Given the description of an element on the screen output the (x, y) to click on. 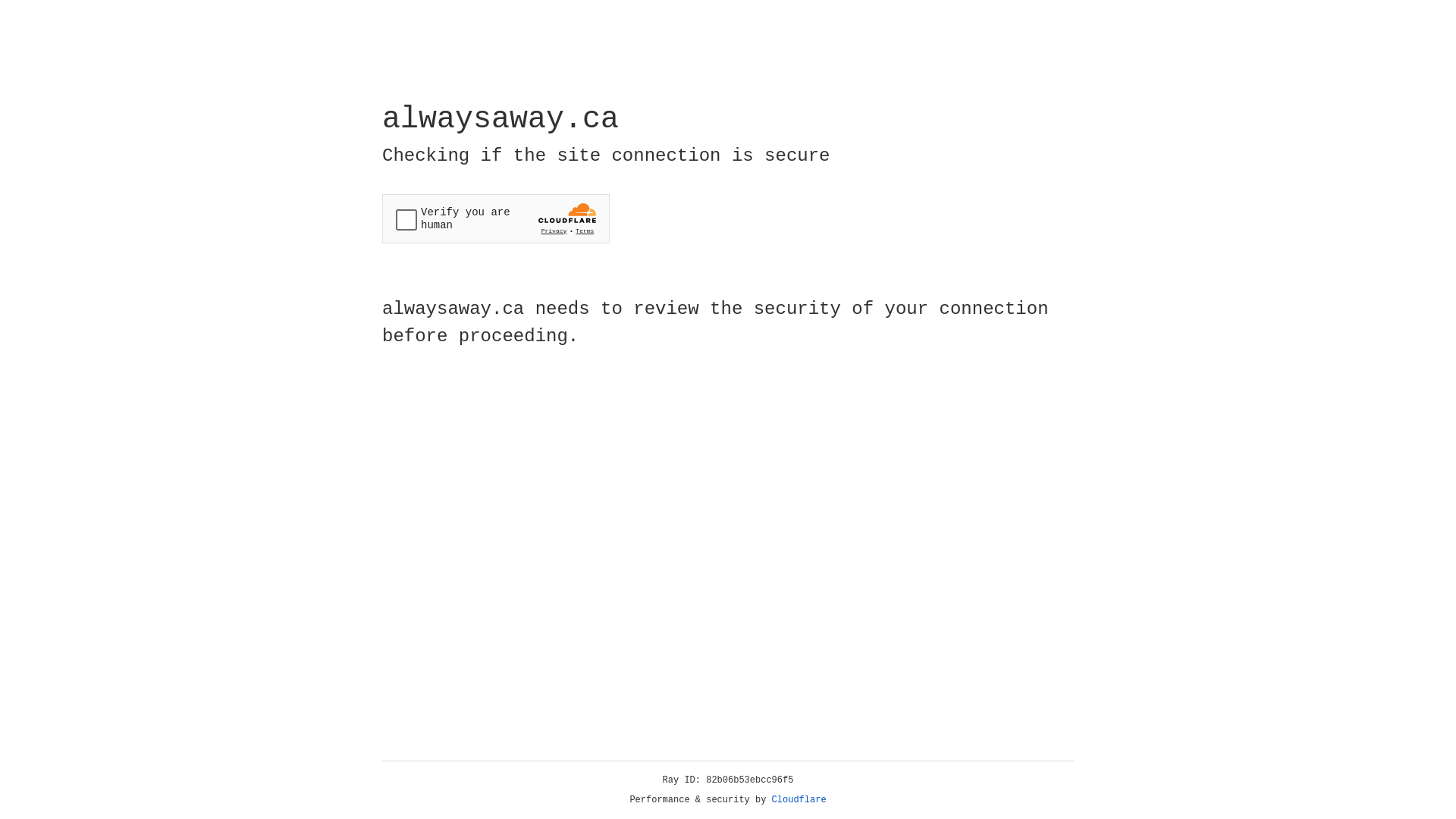
Widget containing a Cloudflare security challenge Element type: hover (495, 218)
Cloudflare Element type: text (798, 799)
